Given the description of an element on the screen output the (x, y) to click on. 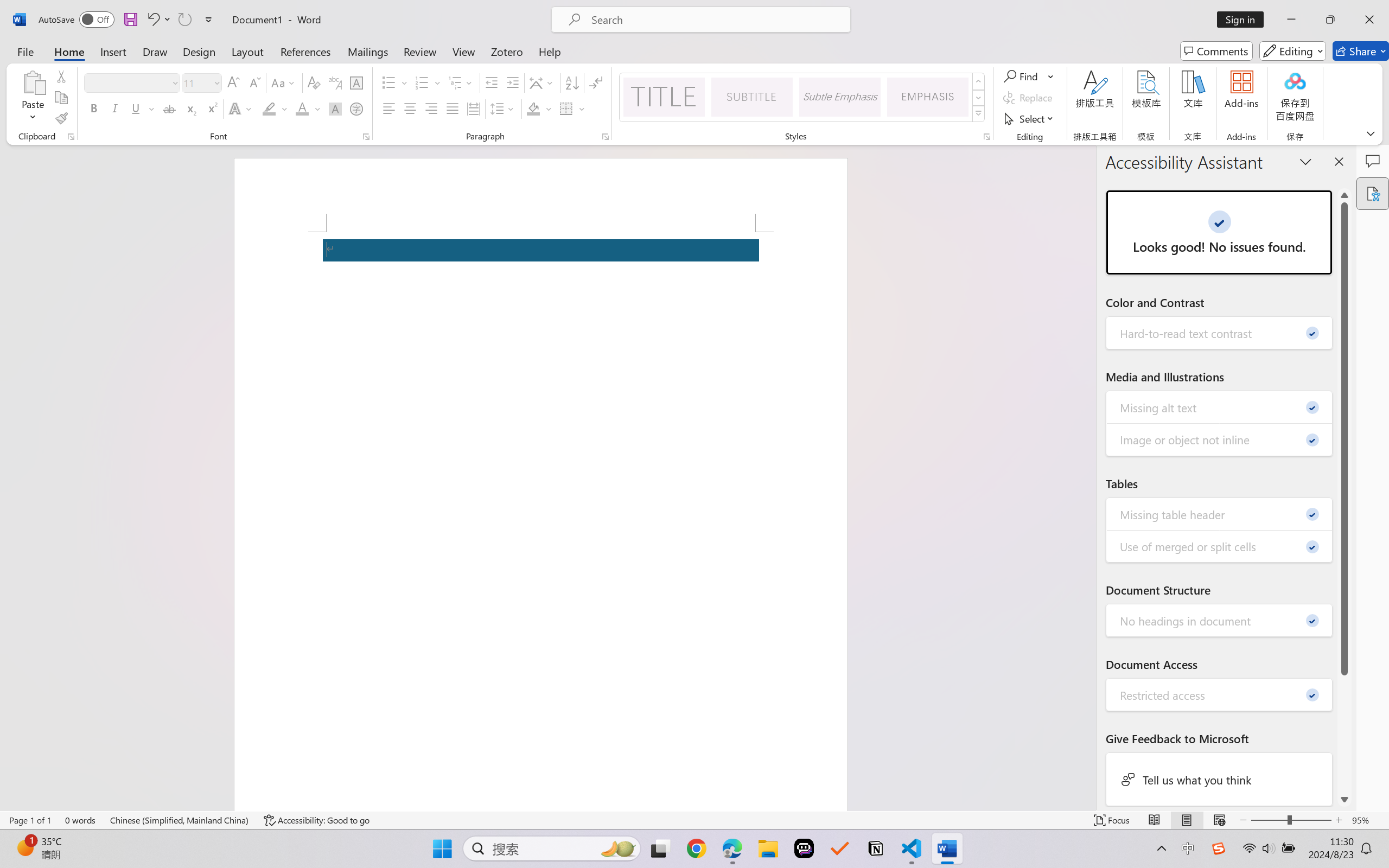
Hard-to-read text contrast - 0 (1219, 332)
